Given the description of an element on the screen output the (x, y) to click on. 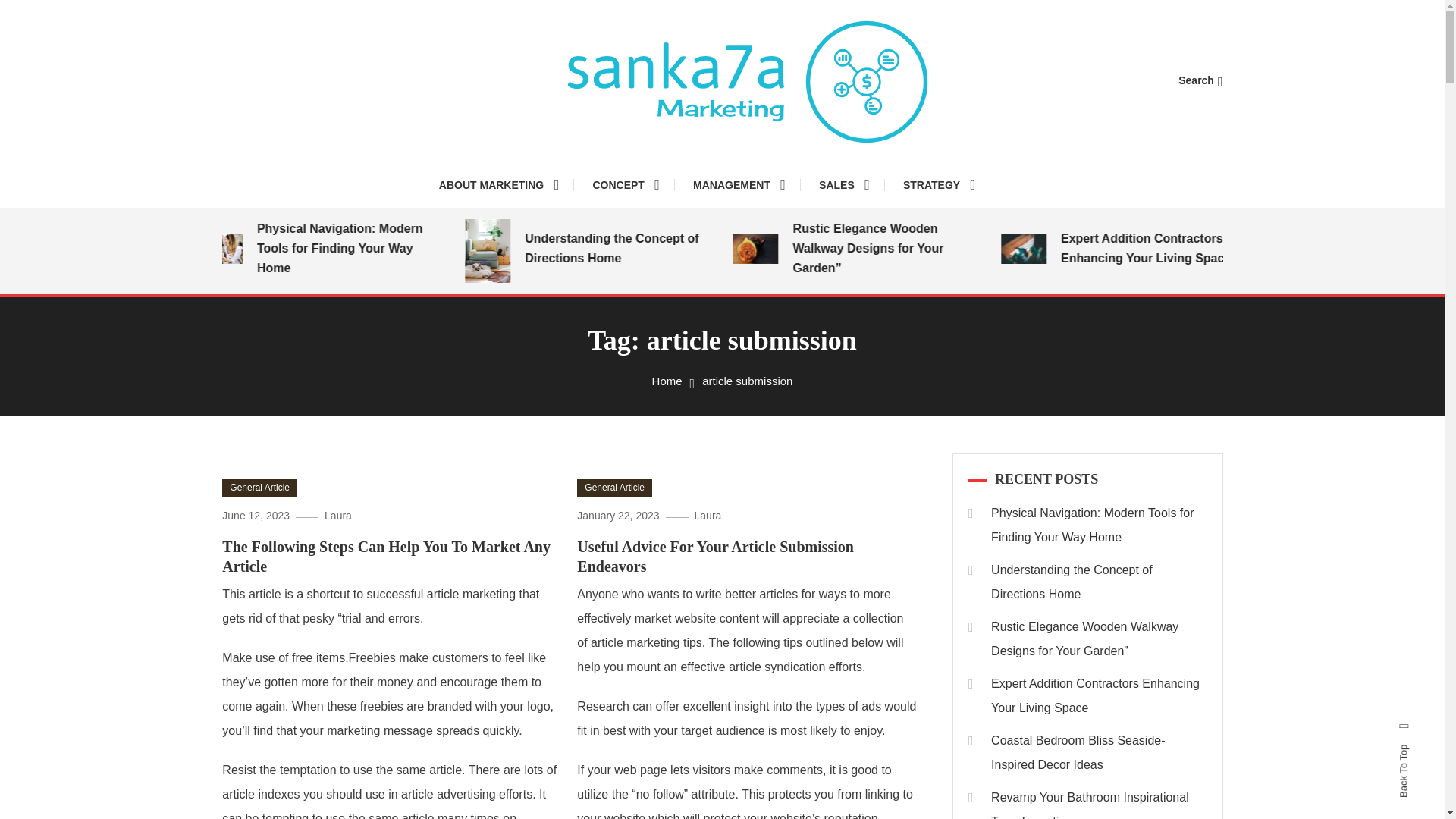
CONCEPT (625, 185)
Sanka7a (499, 177)
Skip To Content (40, 10)
Physical Navigation: Modern Tools for Finding Your Way Home (376, 248)
ABOUT MARKETING (506, 185)
SALES (844, 185)
STRATEGY (939, 185)
MANAGEMENT (739, 185)
Search (1200, 80)
Search (768, 434)
Understanding the Concept of Directions Home (644, 248)
